Given the description of an element on the screen output the (x, y) to click on. 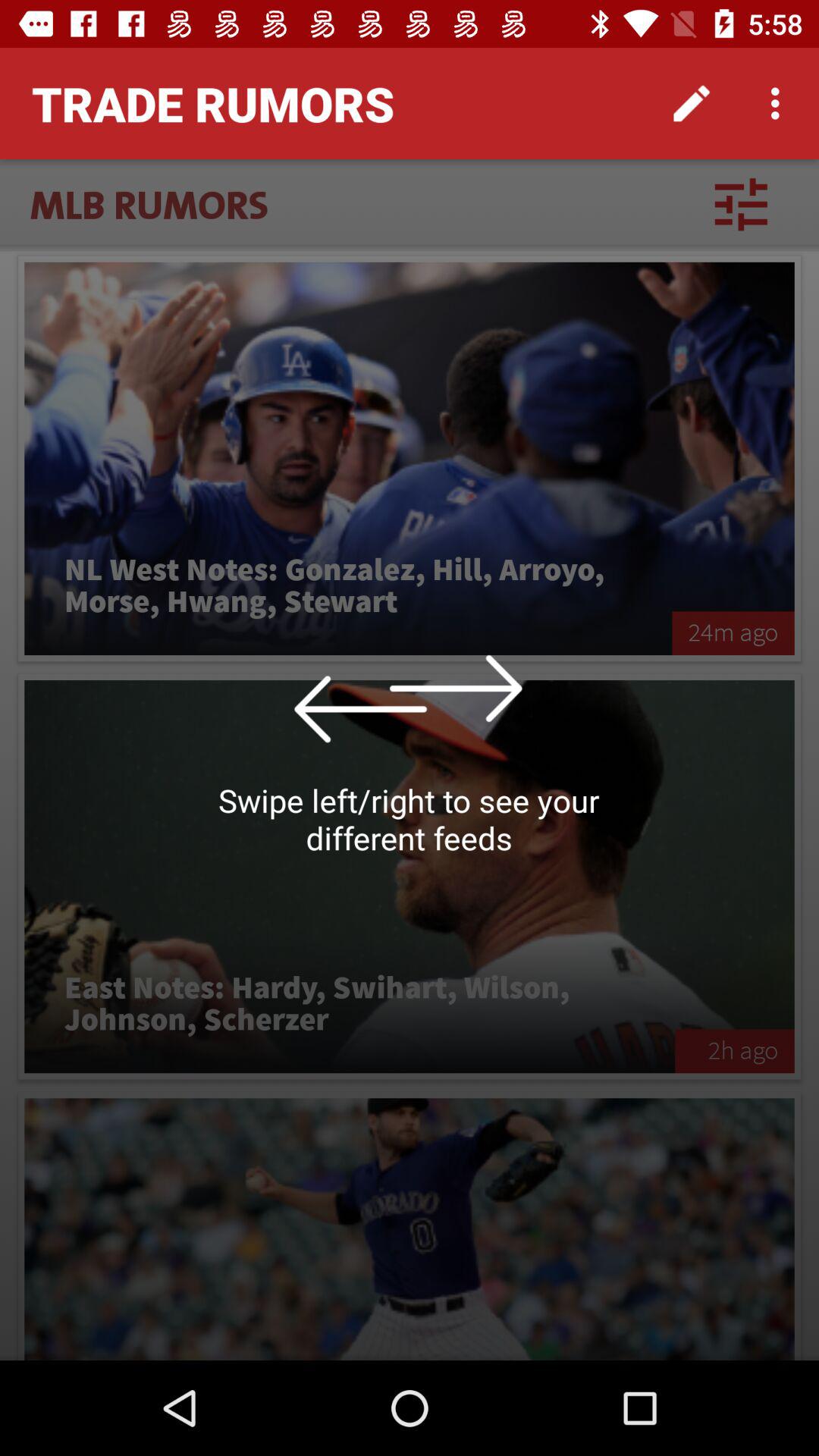
click icon next to 24m ago icon (348, 586)
